Given the description of an element on the screen output the (x, y) to click on. 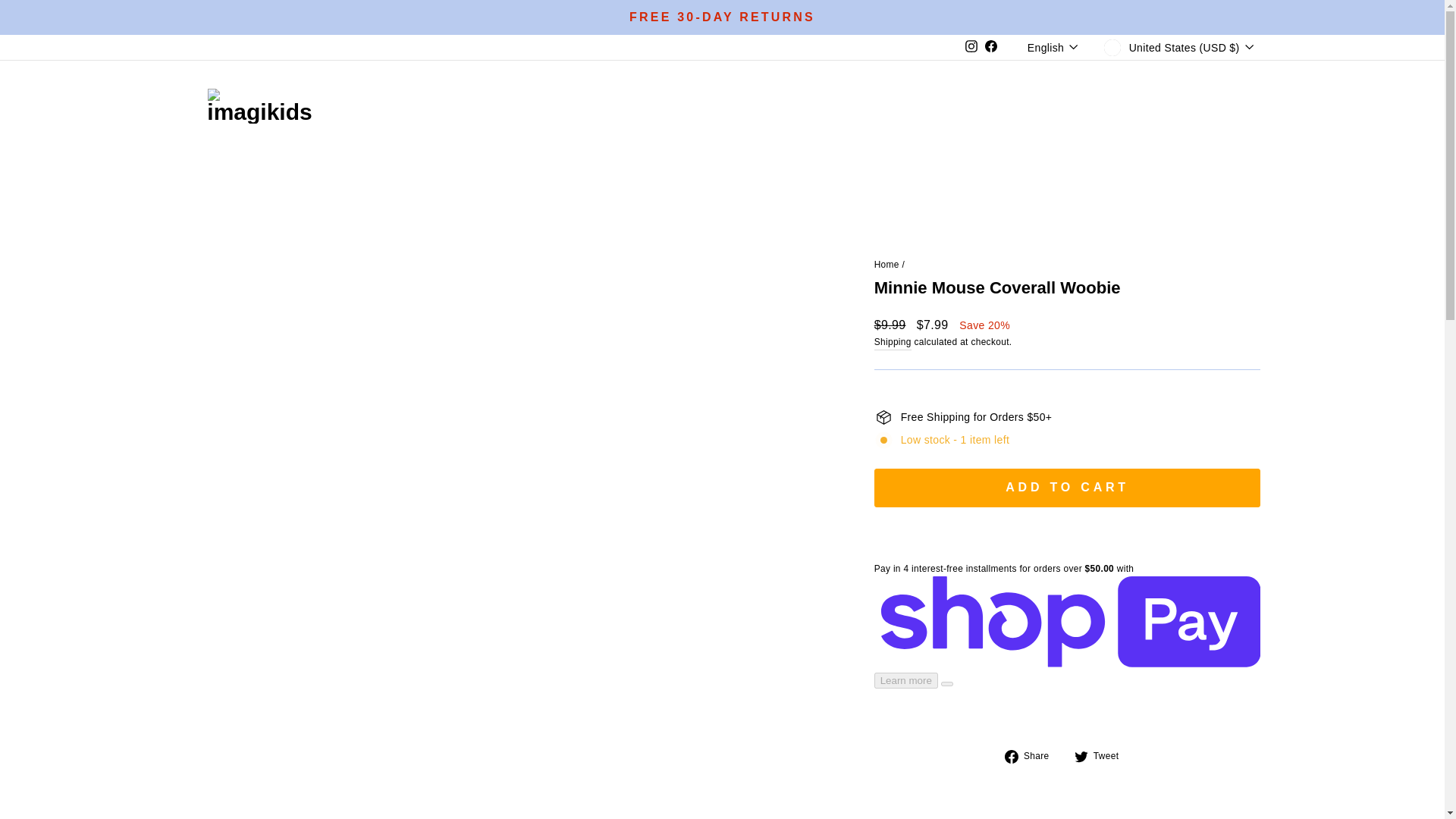
imagikids on Instagram (970, 47)
imagikids on Facebook (991, 47)
Share on Facebook (1032, 754)
Back to the frontpage (887, 264)
Tweet on Twitter (1102, 754)
